Given the description of an element on the screen output the (x, y) to click on. 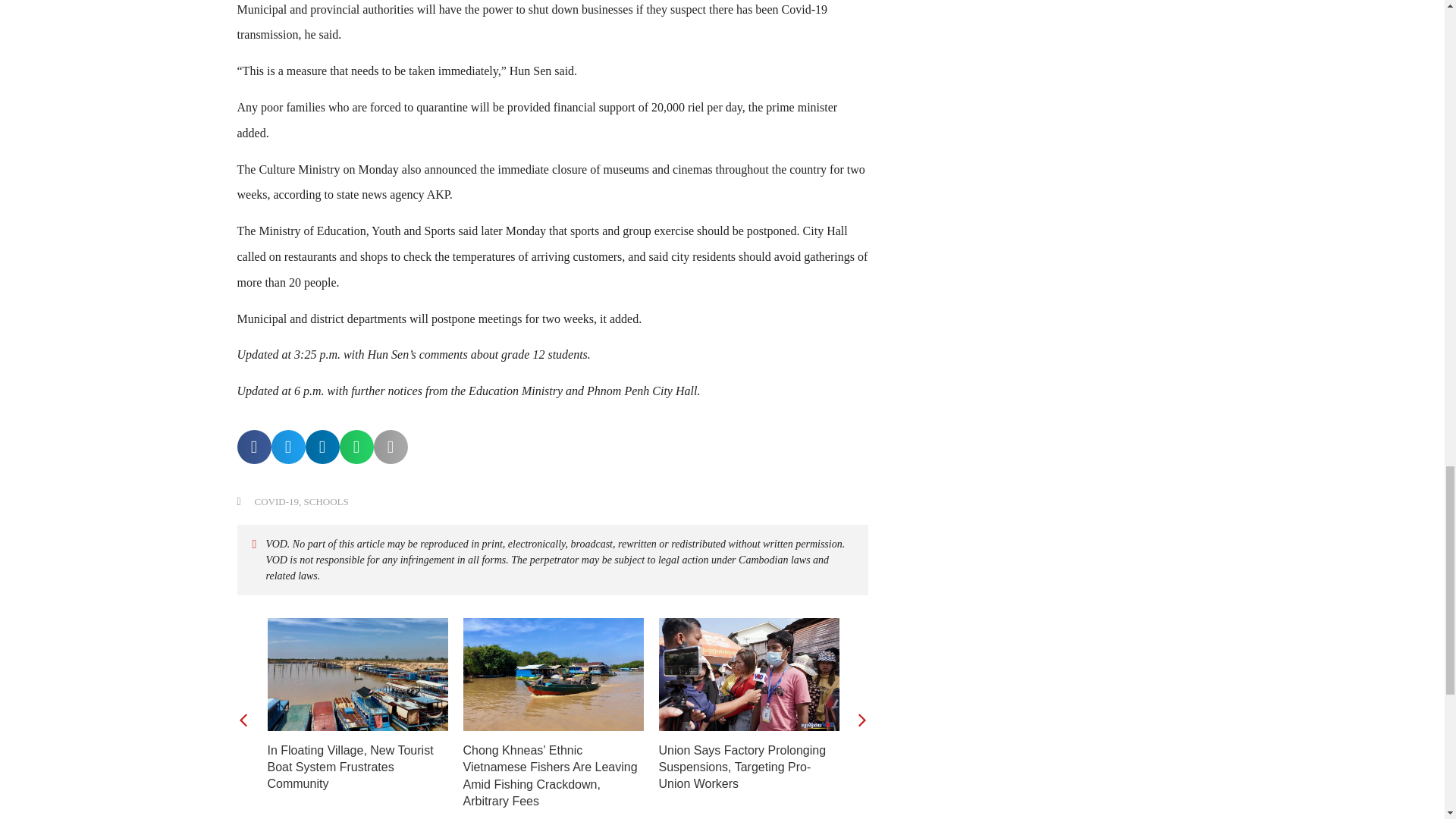
COVID-19 (276, 501)
SCHOOLS (324, 501)
